Given the description of an element on the screen output the (x, y) to click on. 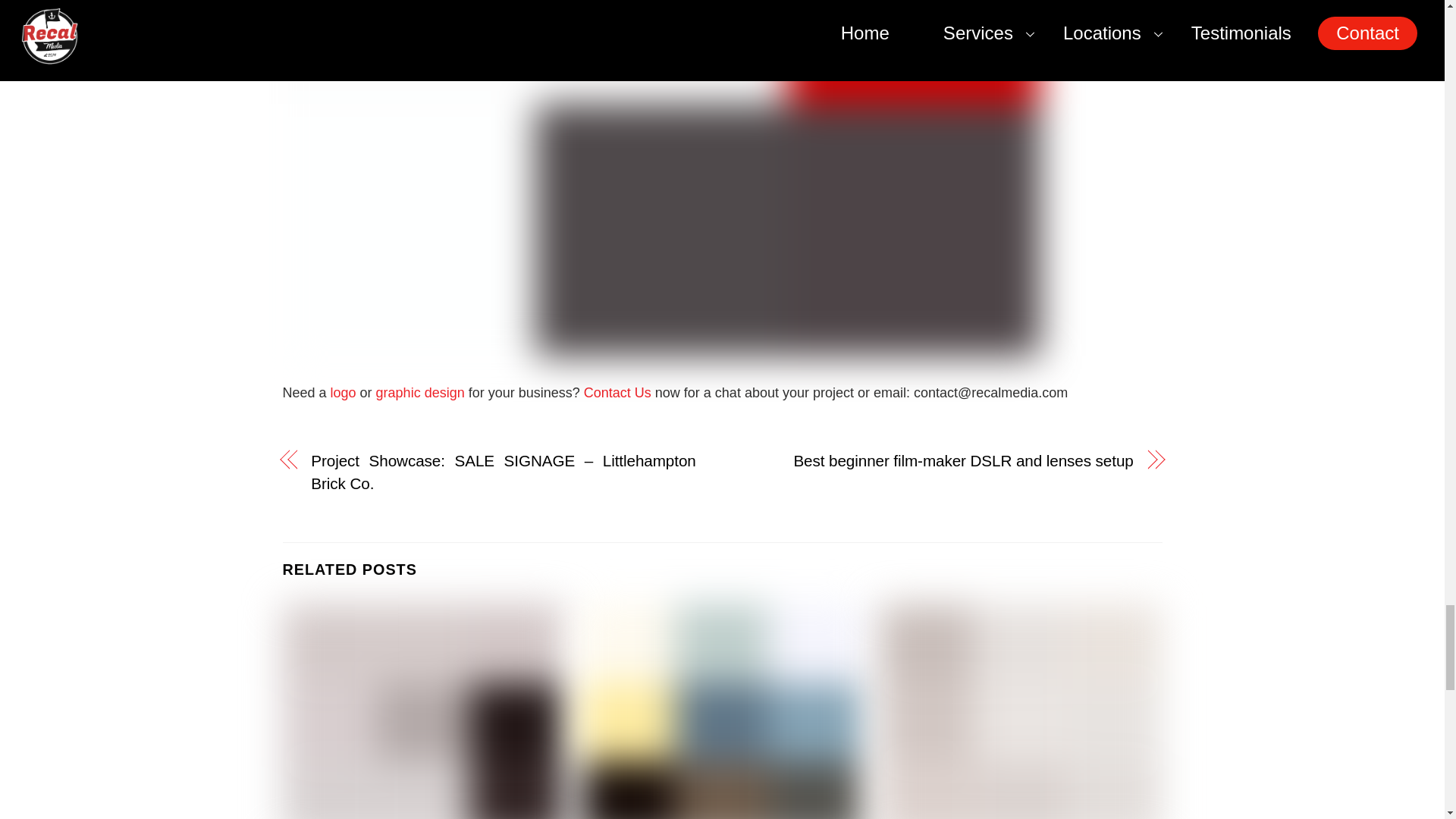
Freelance-Video-Production-in-Adelaide (721, 711)
Airbnb property photography (1020, 711)
Contact Us (616, 392)
logo (343, 392)
Best beginner film-maker DSLR and lenses setup (940, 460)
graphic design (419, 392)
